Given the description of an element on the screen output the (x, y) to click on. 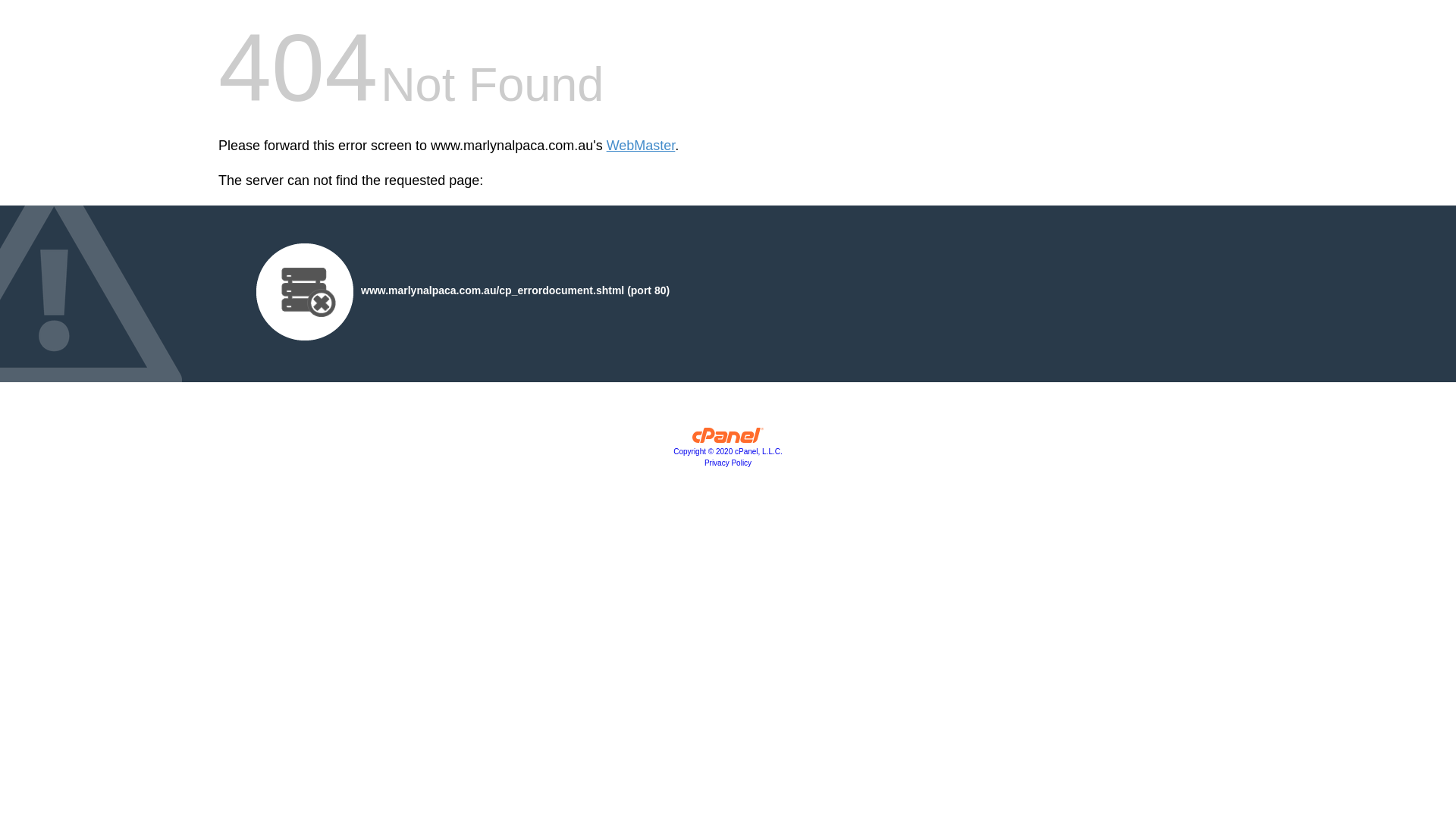
Privacy Policy Element type: text (727, 462)
cPanel, Inc. Element type: hover (728, 439)
WebMaster Element type: text (640, 145)
